Given the description of an element on the screen output the (x, y) to click on. 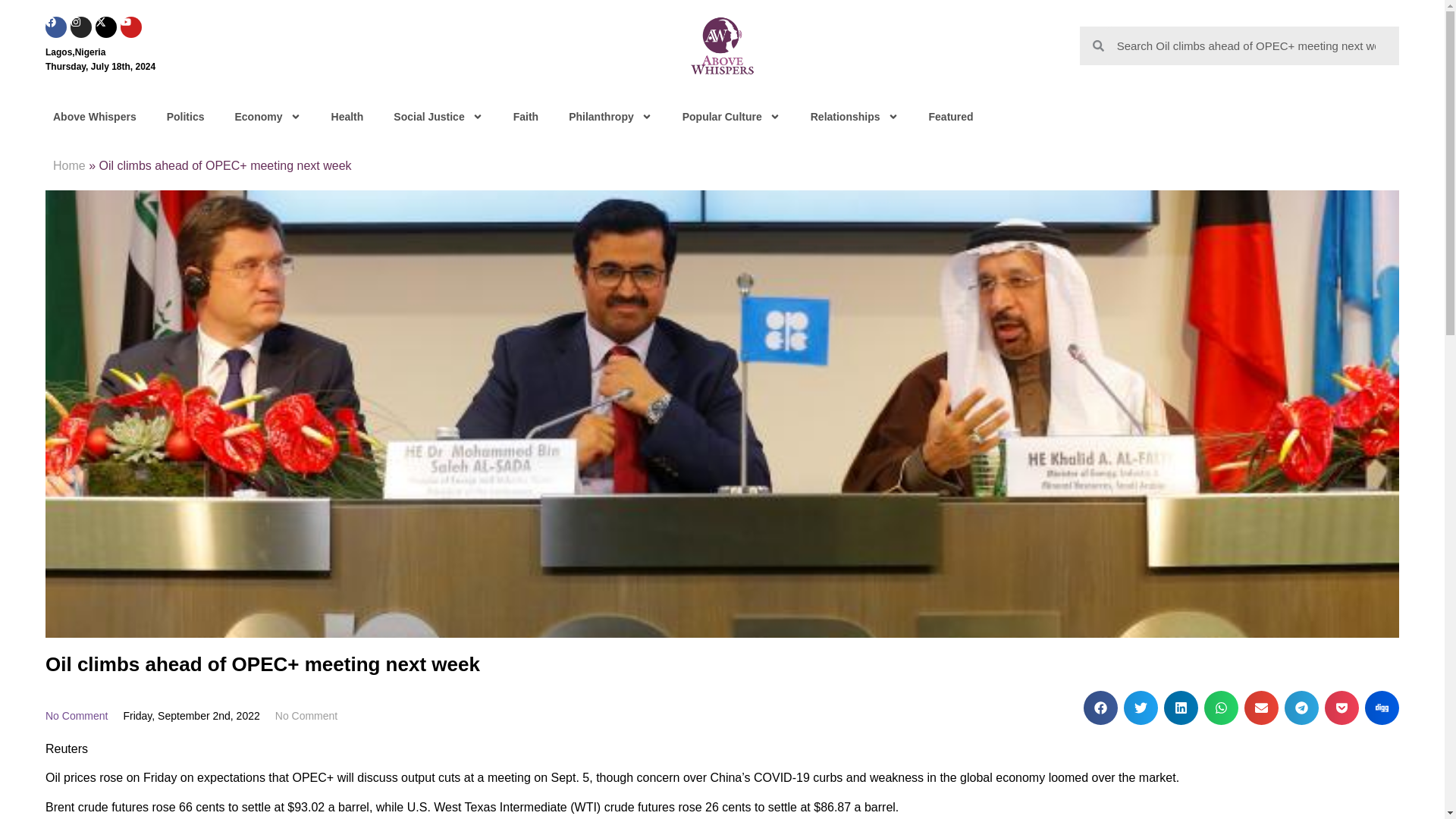
Economy (267, 116)
Politics (185, 116)
Social Justice (437, 116)
Health (346, 116)
Featured (951, 116)
Faith (525, 116)
Popular Culture (730, 116)
Above Whispers (94, 116)
Philanthropy (609, 116)
Relationships (854, 116)
